Given the description of an element on the screen output the (x, y) to click on. 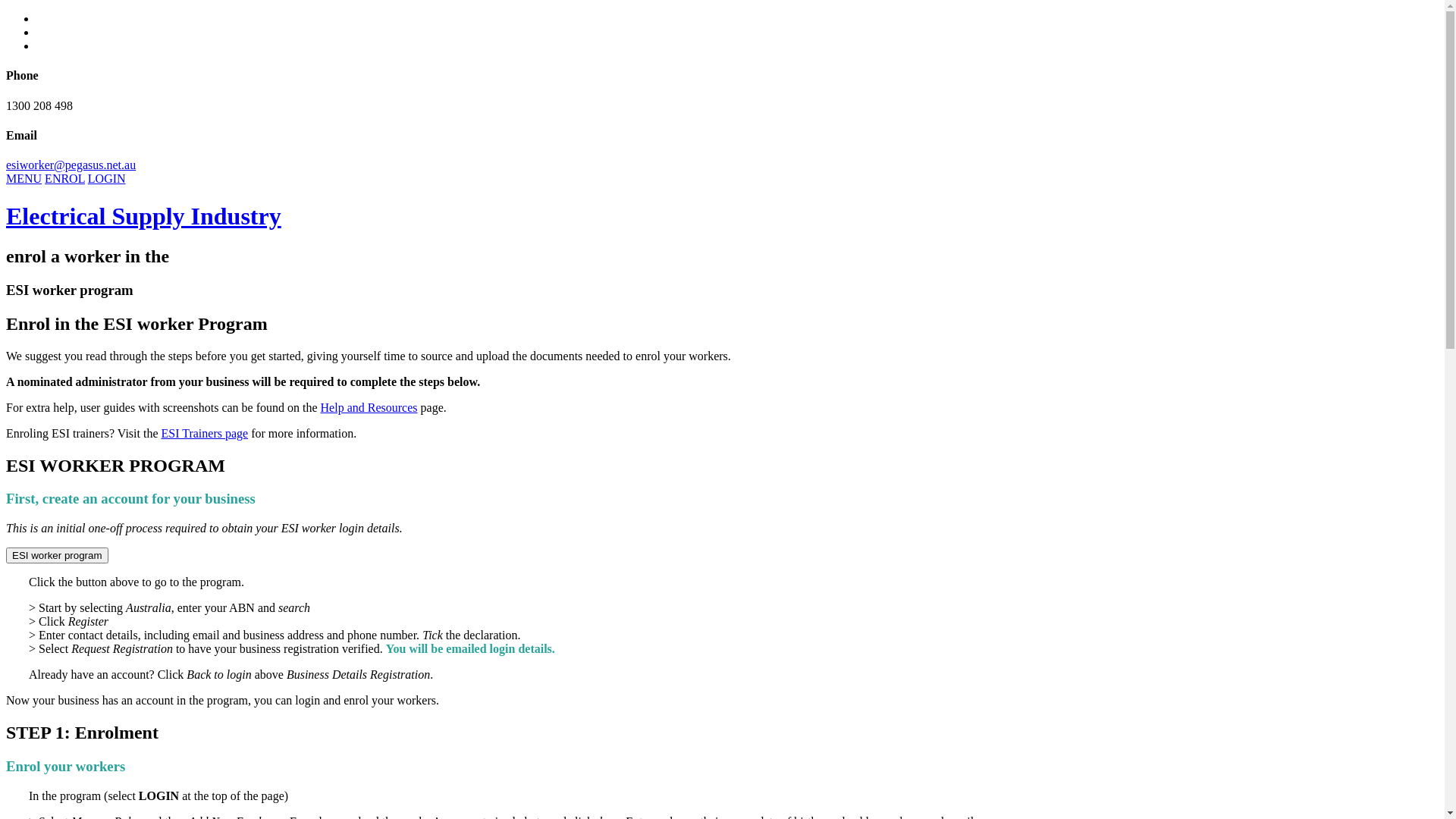
LOGIN Element type: text (106, 178)
Electrical Supply Industry Element type: text (143, 215)
ESI Trainers page Element type: text (203, 432)
Skip to content Element type: text (5, 171)
esiworker@pegasus.net.au Element type: text (70, 164)
Help and Resources Element type: text (368, 407)
MENU Element type: text (23, 178)
ENROL Element type: text (64, 178)
ESI worker program Element type: text (57, 555)
